Given the description of an element on the screen output the (x, y) to click on. 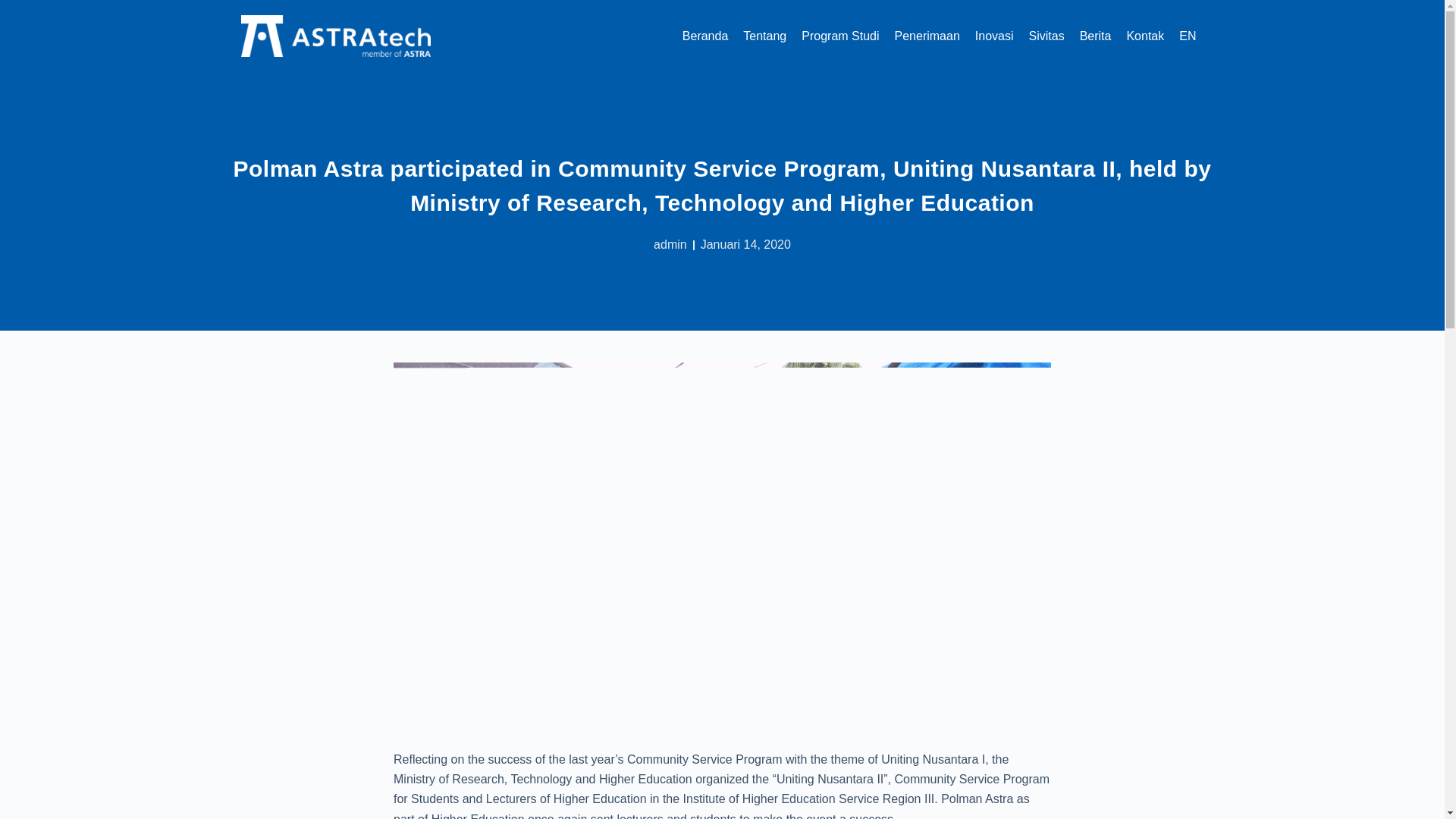
Penerimaan (927, 35)
Tentang (764, 35)
Sivitas (1045, 35)
Inovasi (995, 35)
EN (1188, 35)
Berita (1095, 35)
Program Studi (839, 35)
Skip to content (15, 7)
Kontak (1145, 35)
Beranda (705, 35)
